Given the description of an element on the screen output the (x, y) to click on. 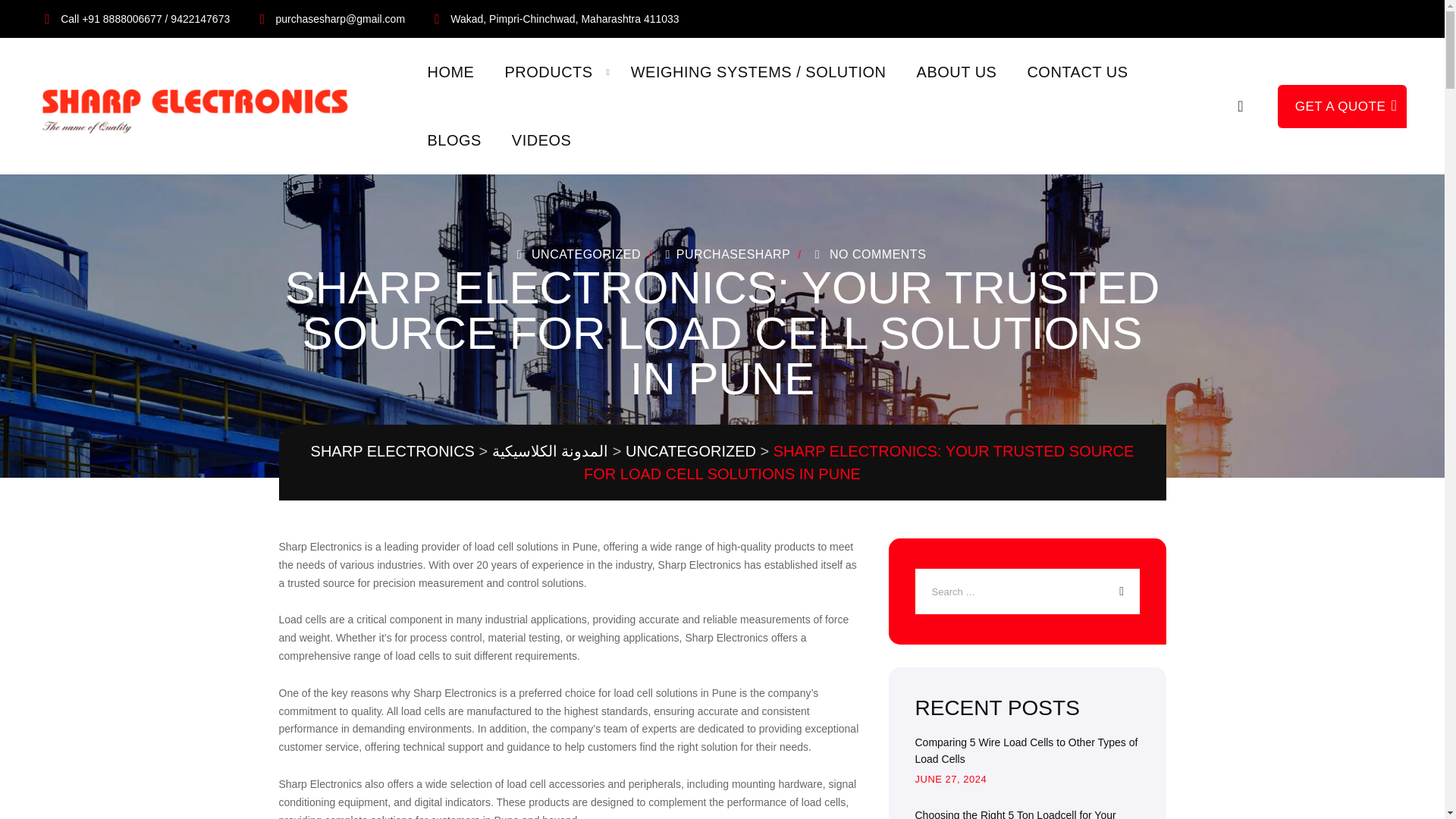
PURCHASESHARP (724, 254)
GET A QUOTE (1342, 106)
PRODUCTS (547, 71)
Sharp Electronics (201, 105)
Go to Sharp Electronics. (392, 451)
Search (1240, 105)
Go to the Uncategorized Category archives. (690, 451)
ABOUT US (957, 71)
CONTACT US (1076, 71)
UNCATEGORIZED (585, 254)
